Given the description of an element on the screen output the (x, y) to click on. 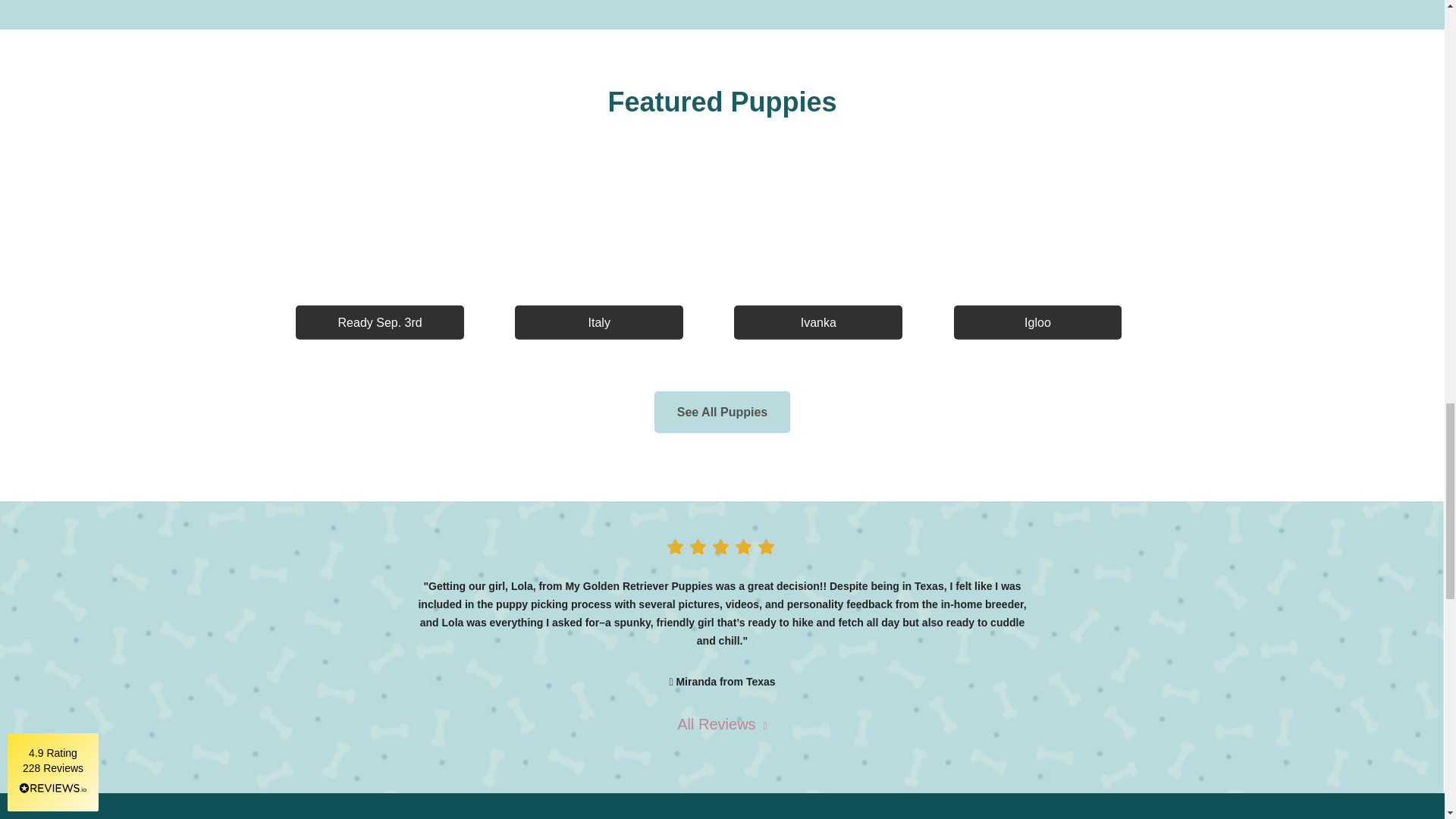
Ready Sep. 3rd (379, 254)
Italy (599, 254)
Ivanka (818, 254)
Igloo (1037, 254)
